Given the description of an element on the screen output the (x, y) to click on. 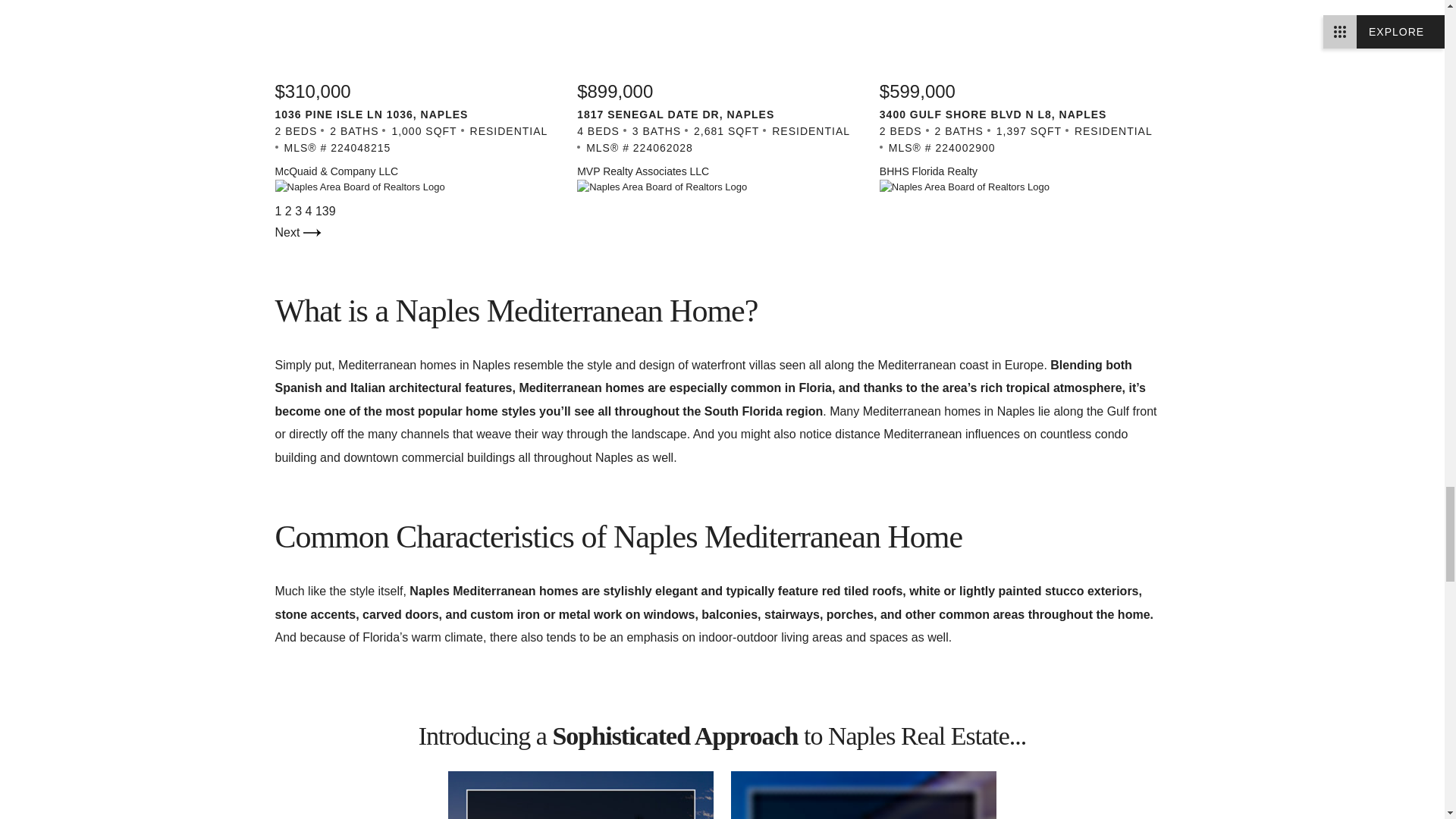
Current Page is 139 (325, 210)
Next Page (297, 232)
